Given the description of an element on the screen output the (x, y) to click on. 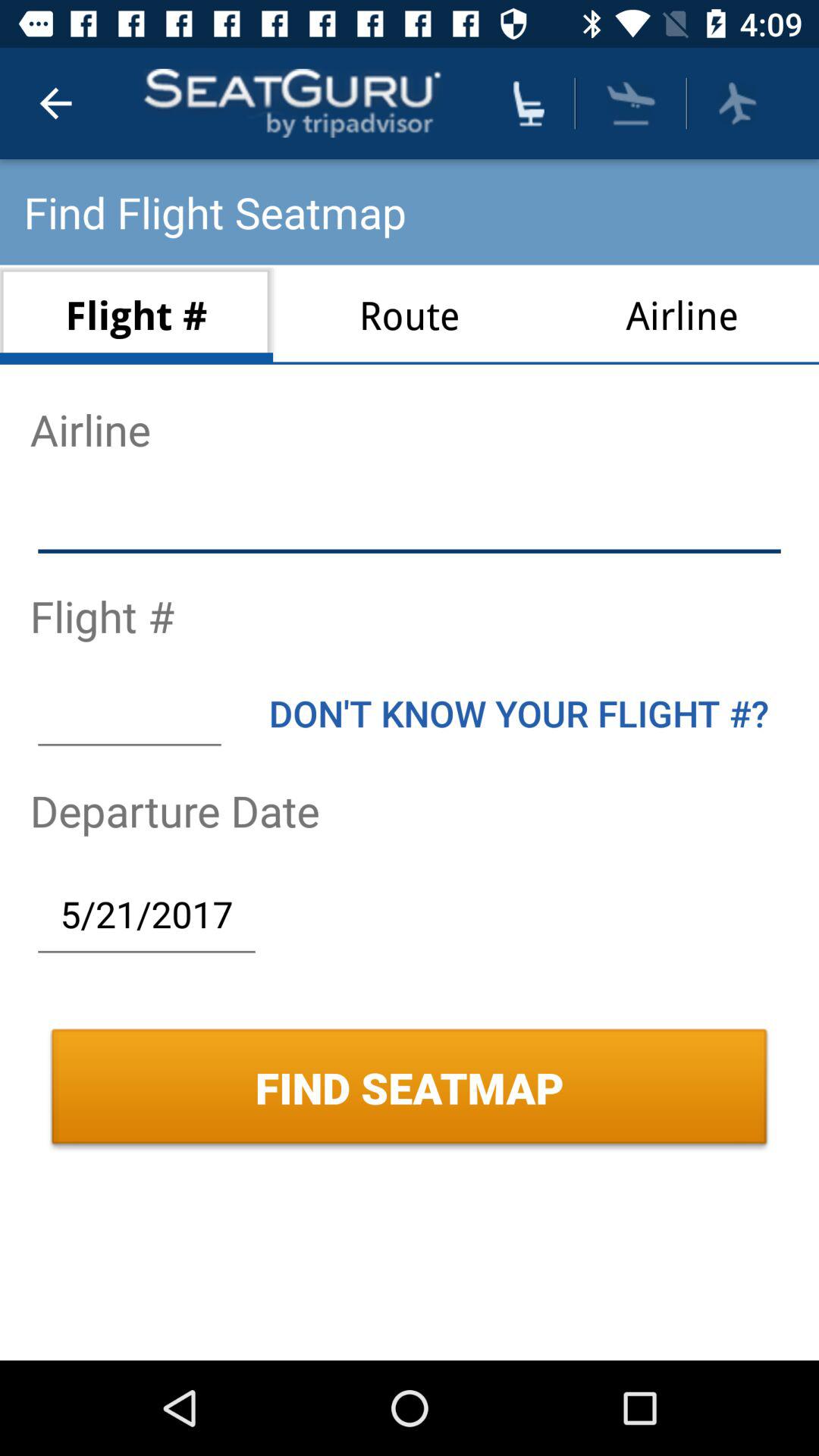
choose icon to the left of the don t know icon (129, 712)
